Given the description of an element on the screen output the (x, y) to click on. 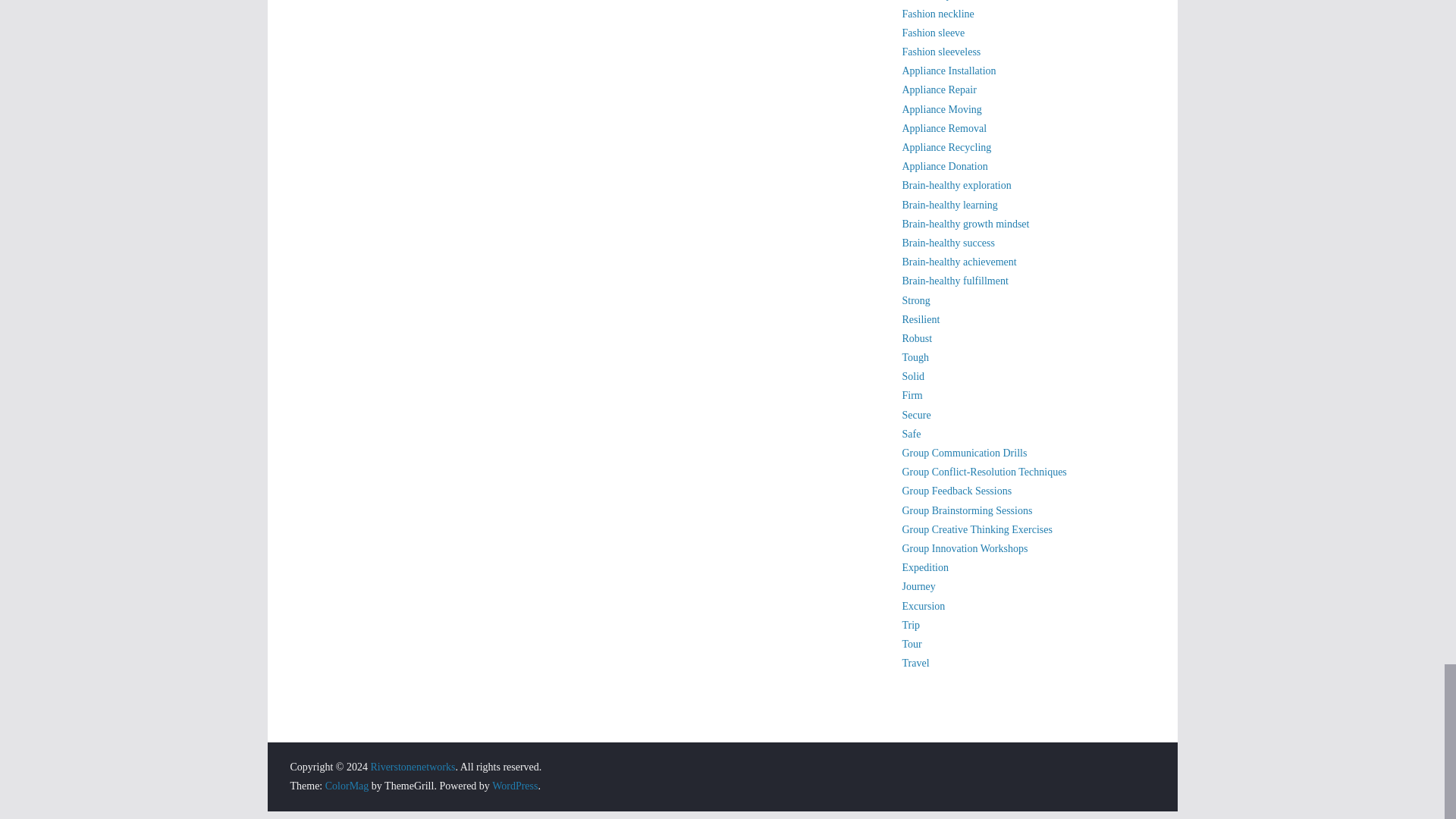
ColorMag (346, 785)
WordPress (514, 785)
Riverstonenetworks (411, 767)
